Given the description of an element on the screen output the (x, y) to click on. 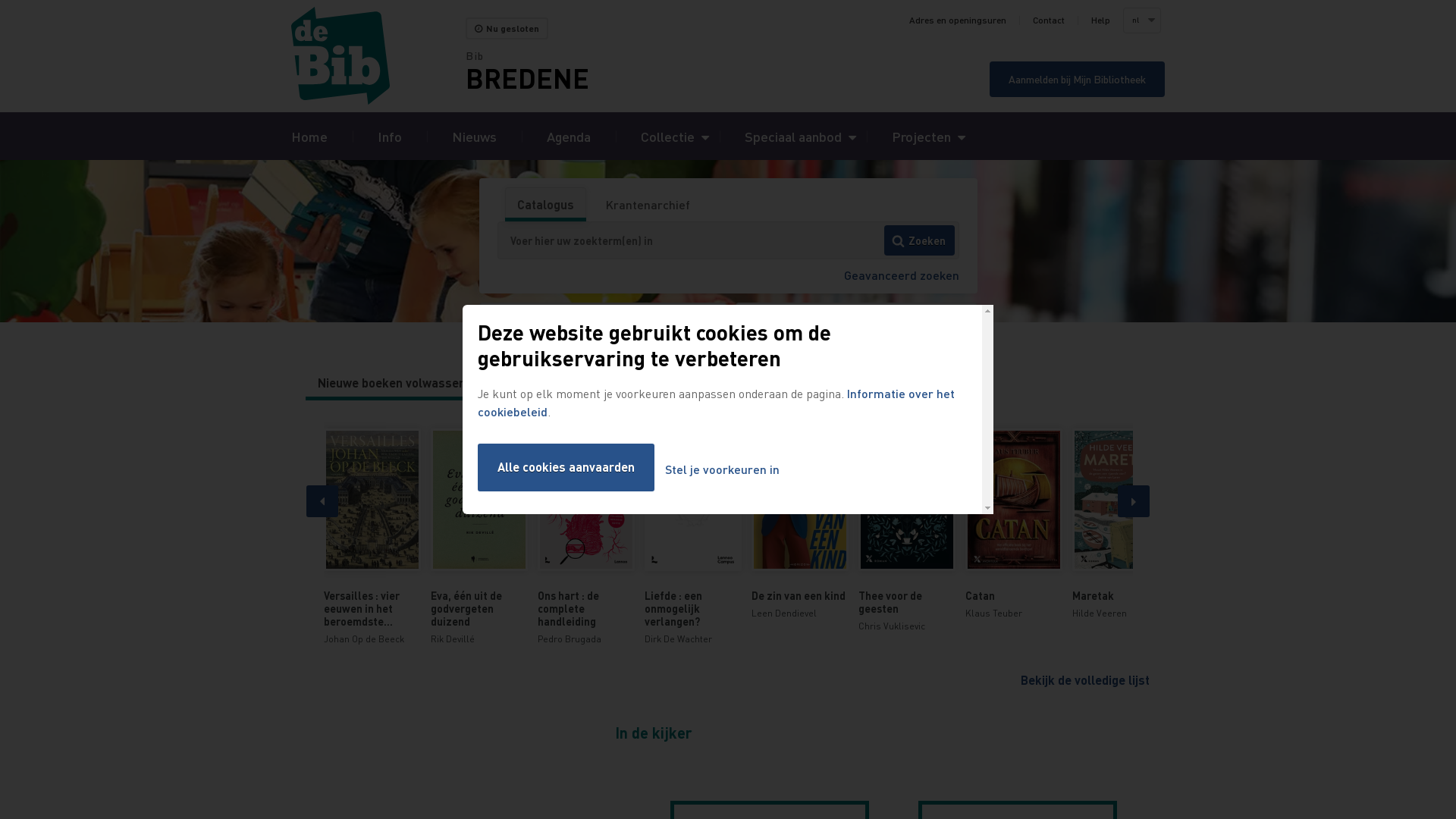
Informatie over het cookiebeleid Element type: text (715, 402)
Stel je voorkeuren in Element type: text (722, 469)
Overslaan en naar zoeken gaan Element type: text (0, 0)
Bekijk de volledige lijst Element type: text (1084, 679)
Home Element type: text (309, 136)
Contact Element type: text (1048, 20)
Ons hart : de complete handleiding
Pedro Brugada Element type: text (584, 536)
Nieuwe jeugdboeken Element type: text (558, 382)
Maretak
Hilde Veeren Element type: text (1120, 524)
Nu gesloten Element type: text (506, 28)
Geavanceerd zoeken Element type: text (900, 274)
Info Element type: text (389, 136)
Alle cookies aanvaarden Element type: text (565, 466)
Aanmelden bij Mijn Bibliotheek Element type: text (1076, 79)
Liefde : een onmogelijk verlangen?
Dirk De Wachter Element type: text (692, 536)
Kamishibai tips Element type: text (680, 382)
Catan
Klaus Teuber Element type: text (1012, 524)
Adres en openingsuren Element type: text (957, 20)
Nieuwe boeken volwassenen Element type: text (398, 382)
Openingsuren opzoeken Element type: text (856, 321)
Krantenarchief Element type: text (647, 204)
De zin van een kind
Leen Dendievel Element type: text (798, 524)
Zoeken Element type: text (919, 240)
Agenda Element type: text (568, 136)
Nieuws Element type: text (473, 136)
Sinterklaas boekentips Element type: text (809, 382)
Home Element type: hover (378, 55)
nl Element type: text (1140, 20)
Catalogus Element type: text (544, 204)
Help Element type: text (1100, 20)
Thee voor de geesten
Chris Vuklisevic Element type: text (906, 530)
Uitleentermijn verlengen Element type: text (603, 321)
